Given the description of an element on the screen output the (x, y) to click on. 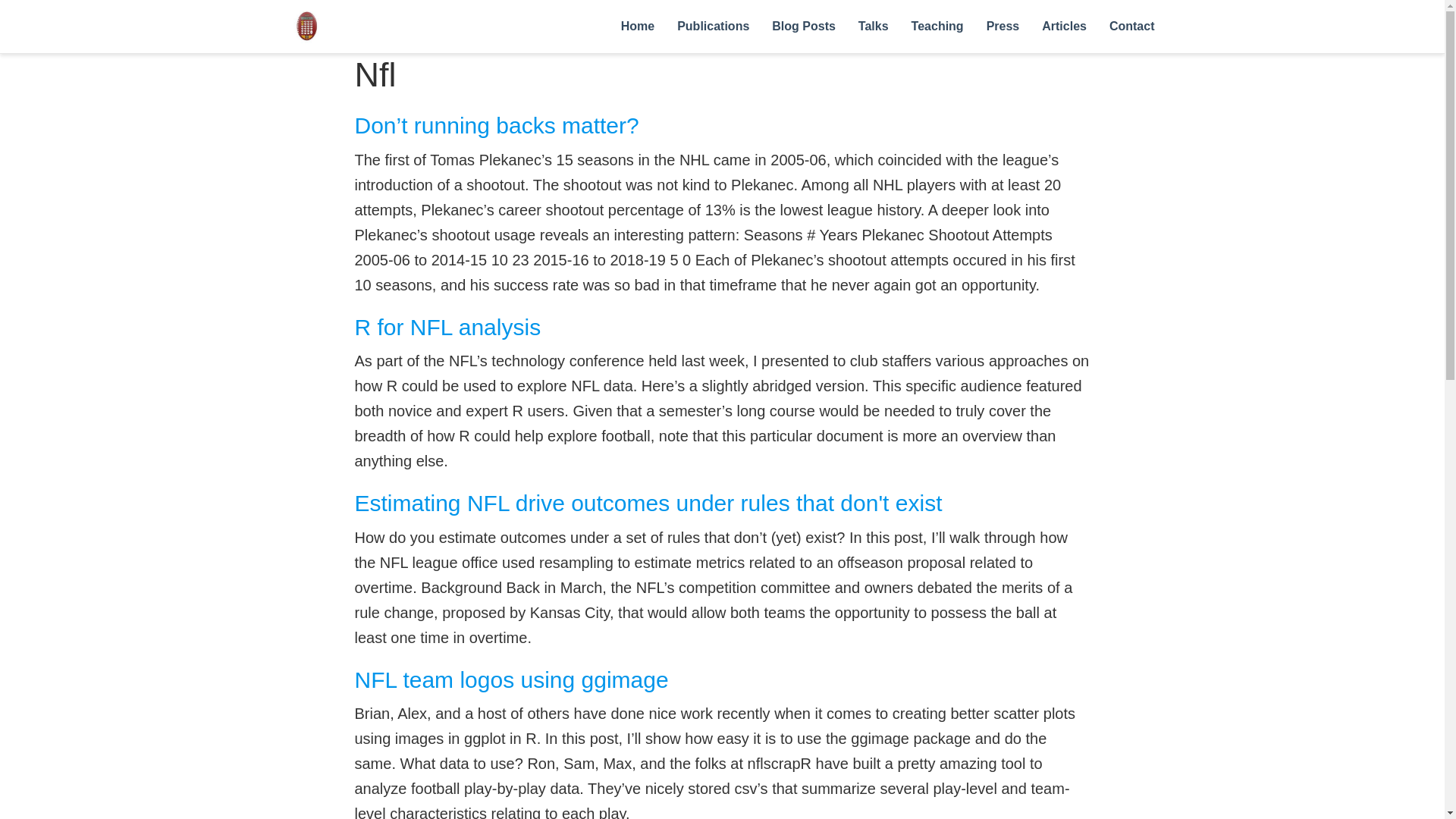
Teaching (937, 26)
Articles (1063, 26)
Contact (1131, 26)
Estimating NFL drive outcomes under rules that don't exist (648, 502)
Blog Posts (803, 26)
Home (637, 26)
Press (1002, 26)
NFL team logos using ggimage (511, 679)
Publications (712, 26)
R for NFL analysis (448, 326)
